Given the description of an element on the screen output the (x, y) to click on. 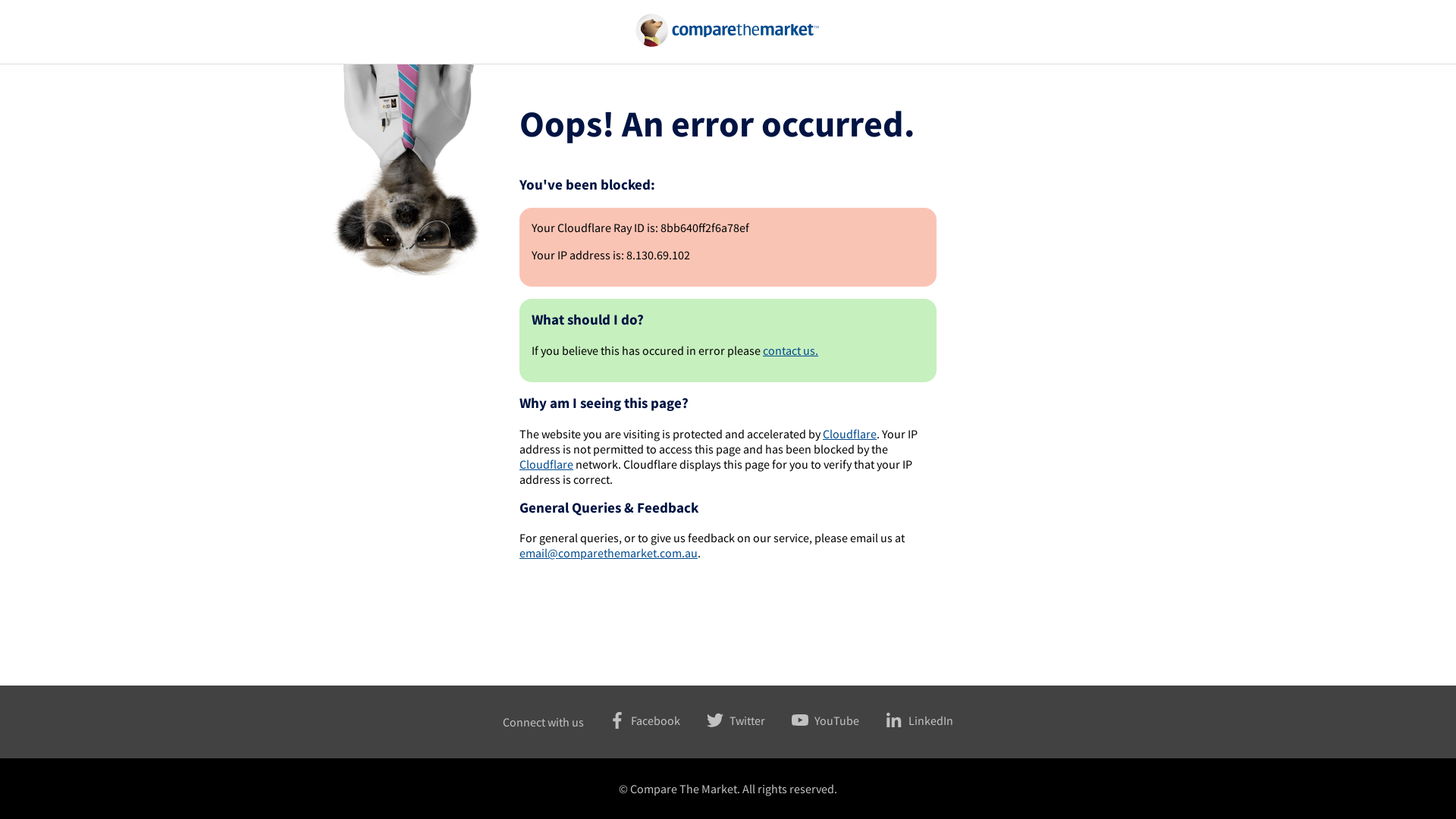
Logo Facebook (616, 719)
Twitter (723, 719)
Facebook (631, 719)
Logo Twitter (714, 719)
Logo CompareTheMarket (727, 29)
Cloudflare (849, 433)
YouTube (813, 719)
Logo LinkedIn (893, 719)
Logo YouTube (800, 719)
Cloudflare (546, 463)
